Given the description of an element on the screen output the (x, y) to click on. 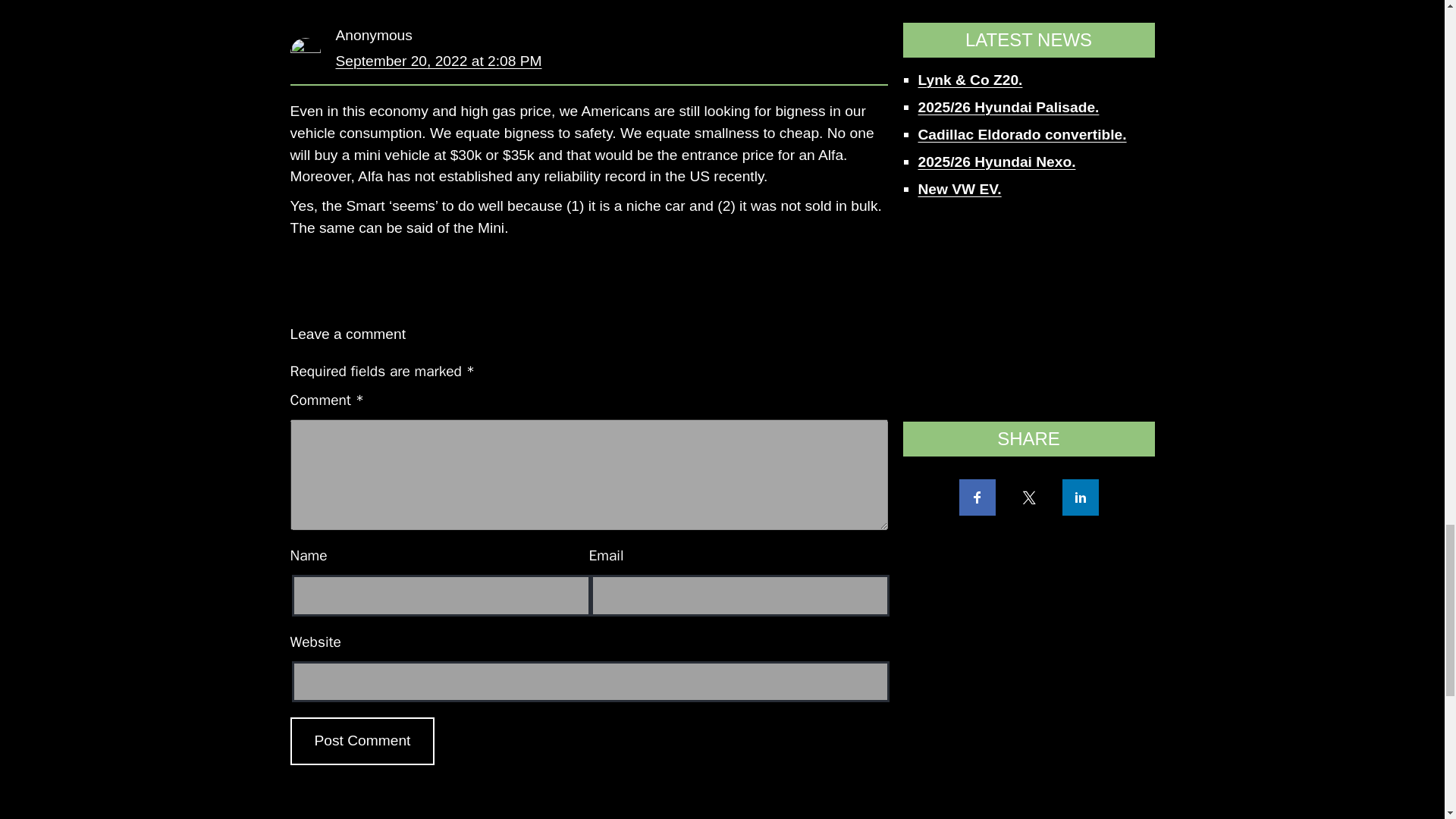
Post Comment (361, 740)
Post Comment (361, 740)
September 20, 2022 at 2:08 PM (437, 60)
